Given the description of an element on the screen output the (x, y) to click on. 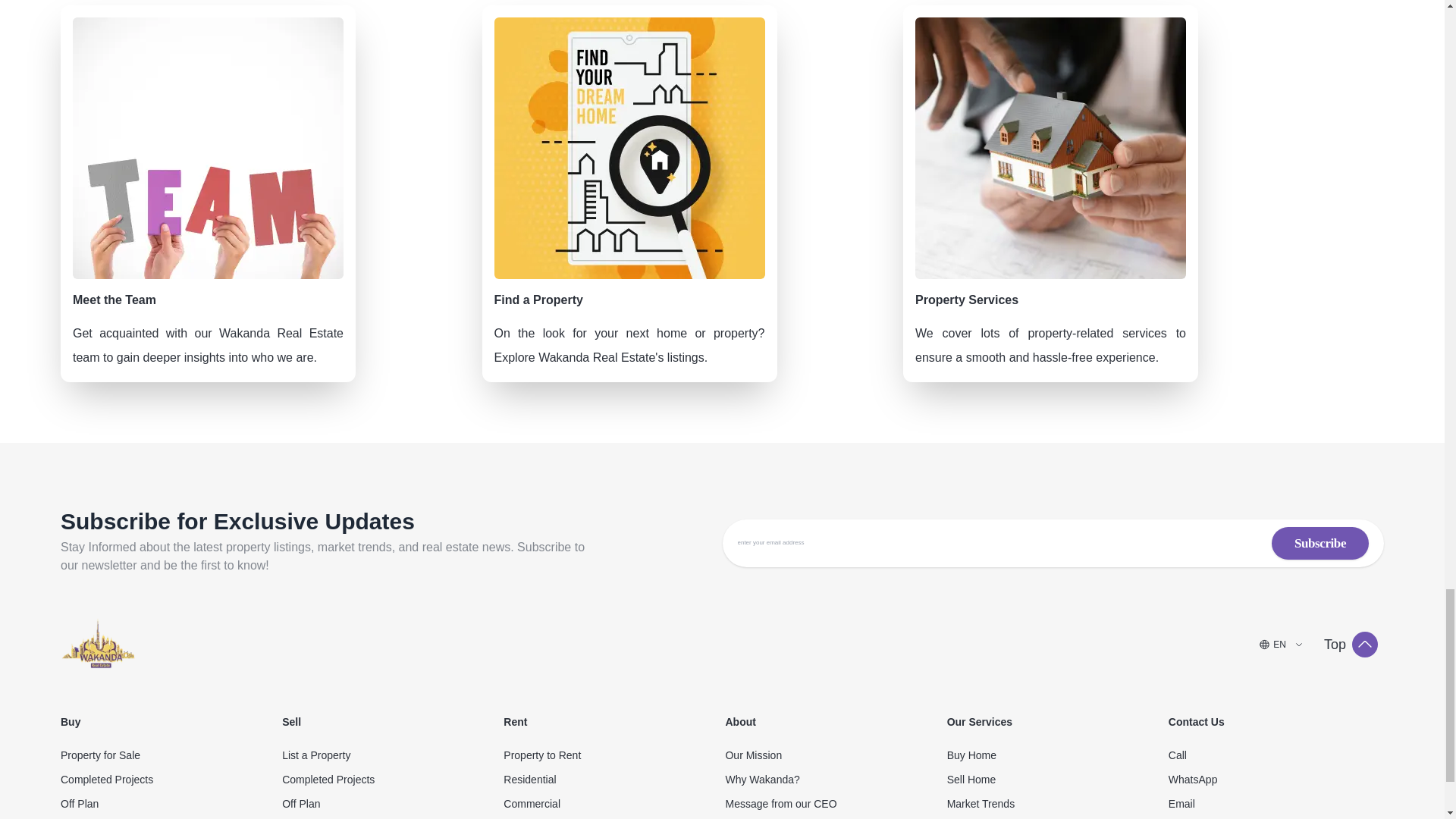
WhatsApp (1276, 779)
Property for Sale (168, 754)
Our Mission (832, 754)
Off Plan (168, 803)
Completed Projects (168, 779)
Call (1276, 754)
Completed Projects (389, 779)
Residential (611, 779)
Off Plan (389, 803)
Buy Home (1054, 754)
